Given the description of an element on the screen output the (x, y) to click on. 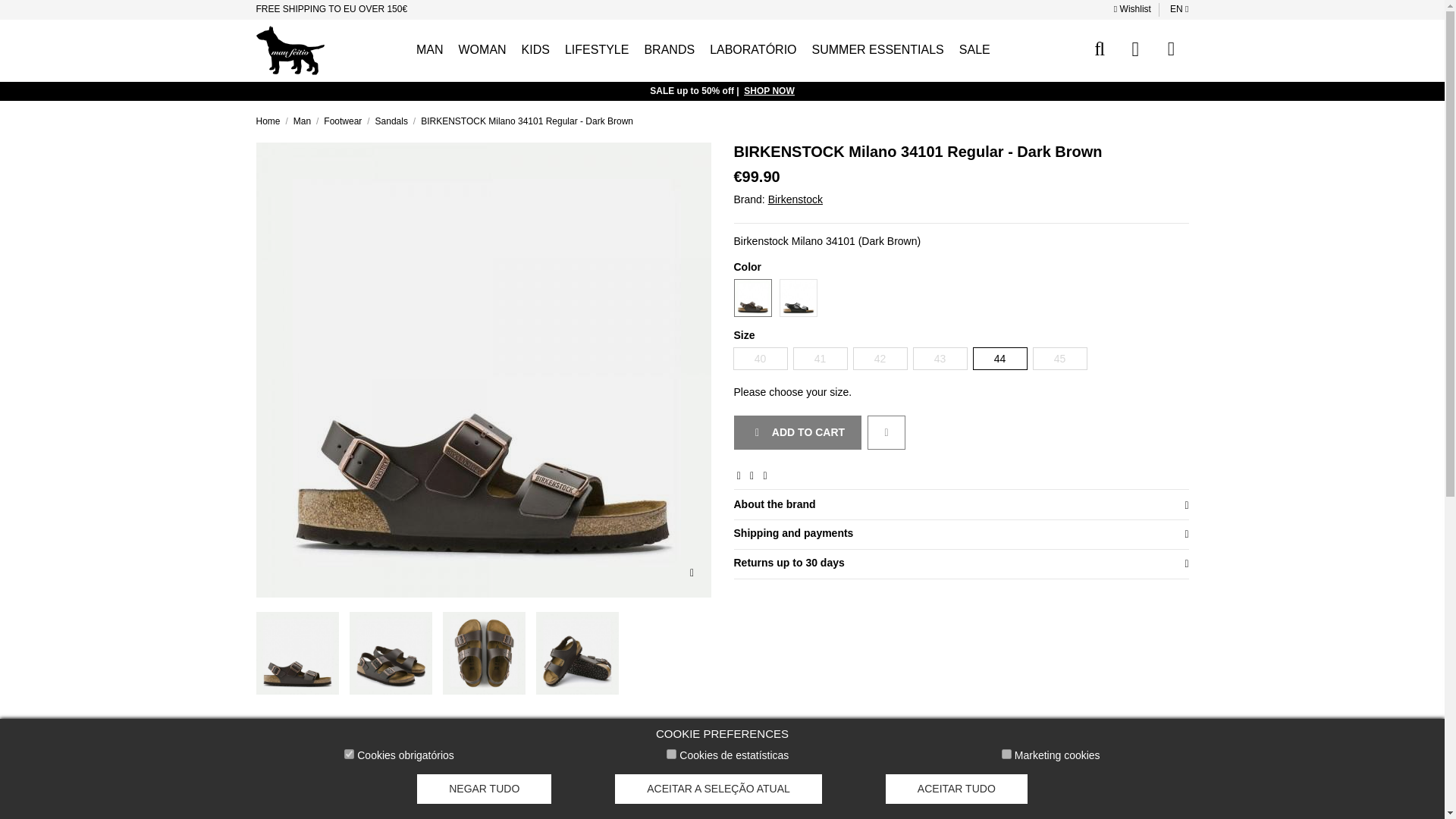
on (348, 754)
on (1006, 754)
WOMAN (481, 49)
MAN (430, 49)
Wishlist (1133, 9)
on (1006, 754)
on (671, 754)
EN (1179, 9)
Log in to your customer account (1135, 49)
on (348, 754)
on (671, 754)
